Given the description of an element on the screen output the (x, y) to click on. 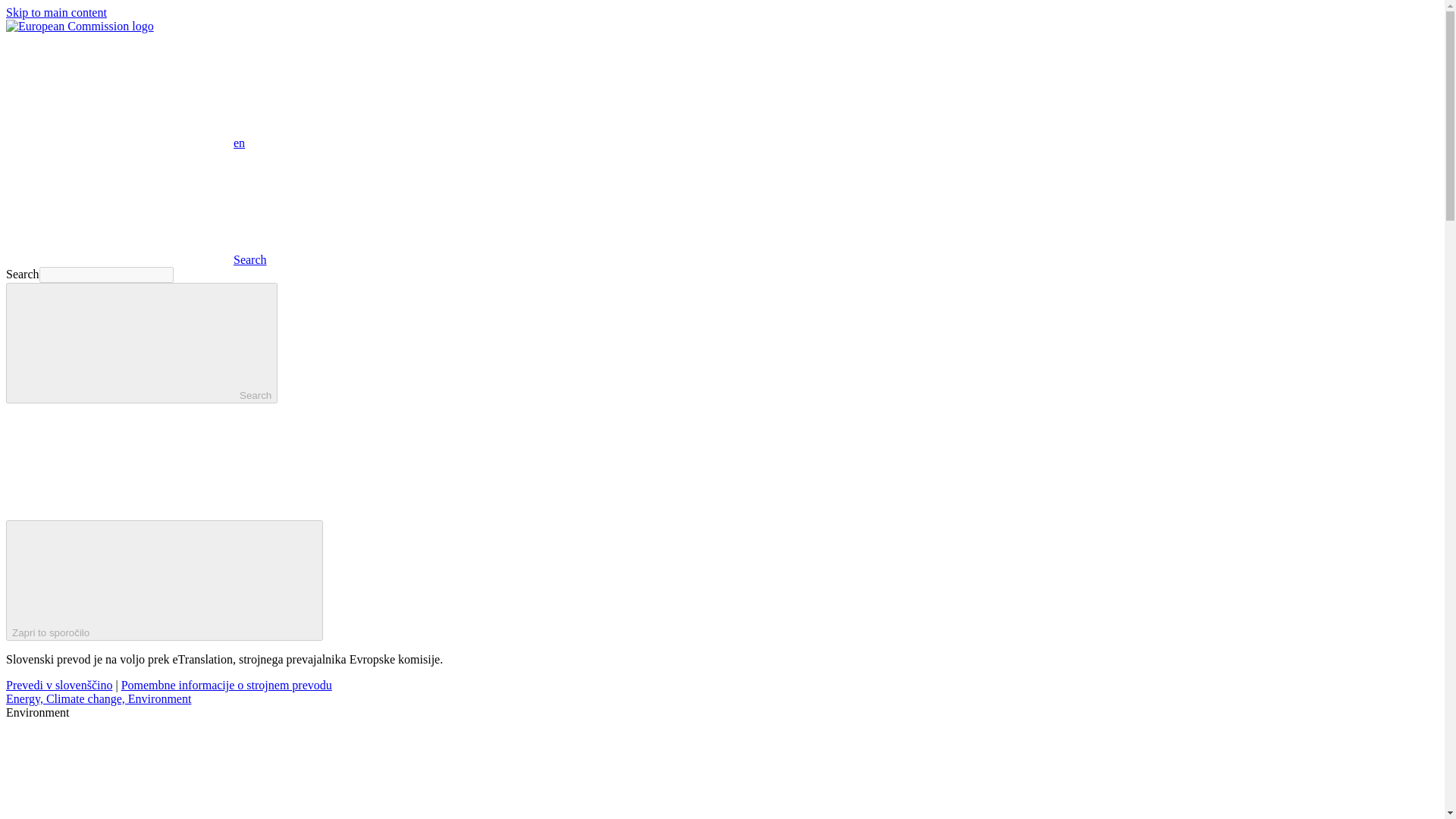
European Commission (79, 25)
Pomembne informacije o strojnem prevodu (225, 684)
en (118, 90)
Search (141, 342)
Energy, Climate change, Environment (97, 698)
Search (135, 259)
Skip to main content (55, 11)
enen (124, 142)
